Given the description of an element on the screen output the (x, y) to click on. 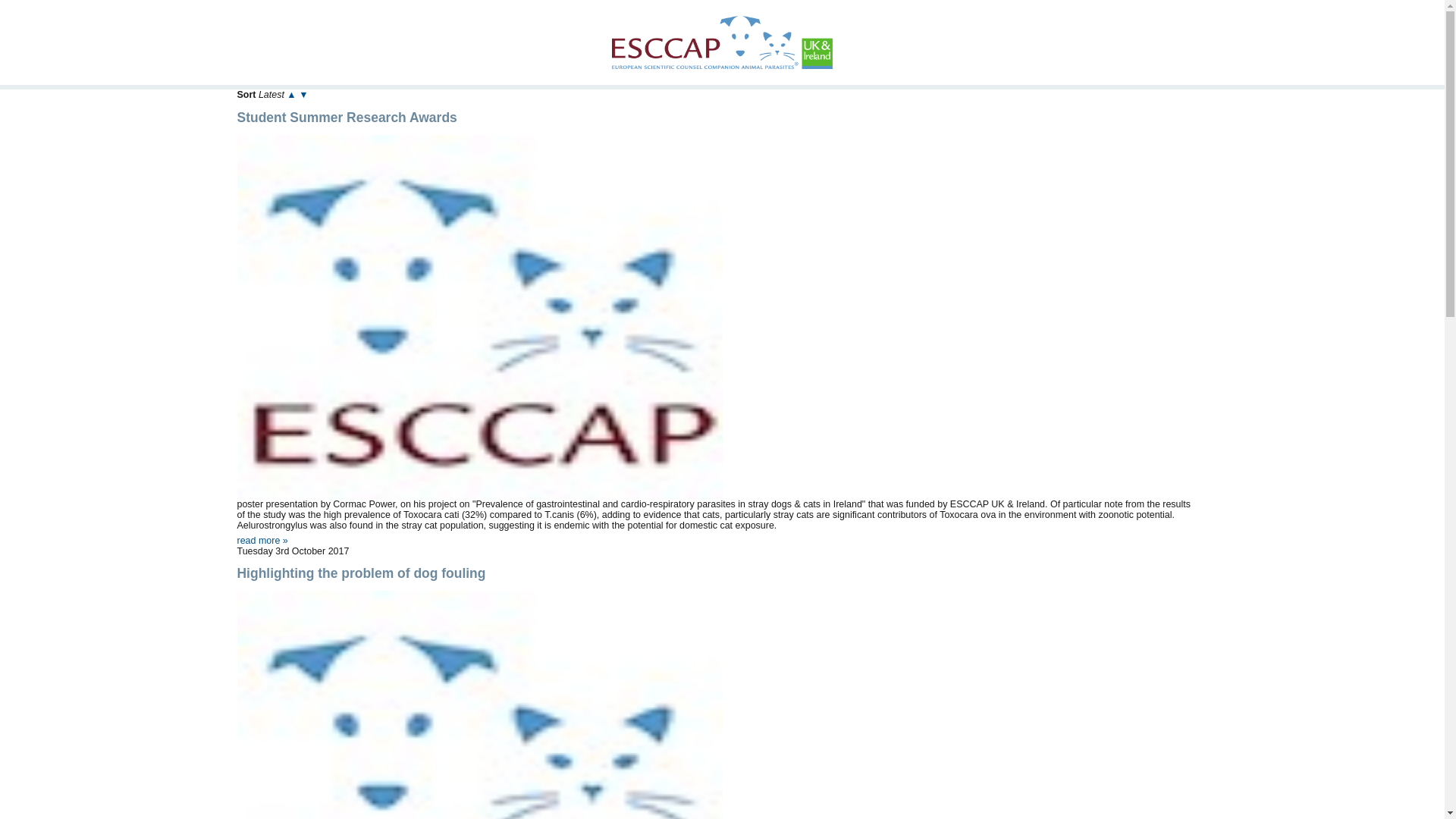
Student Summer Research Awards (260, 540)
